Given the description of an element on the screen output the (x, y) to click on. 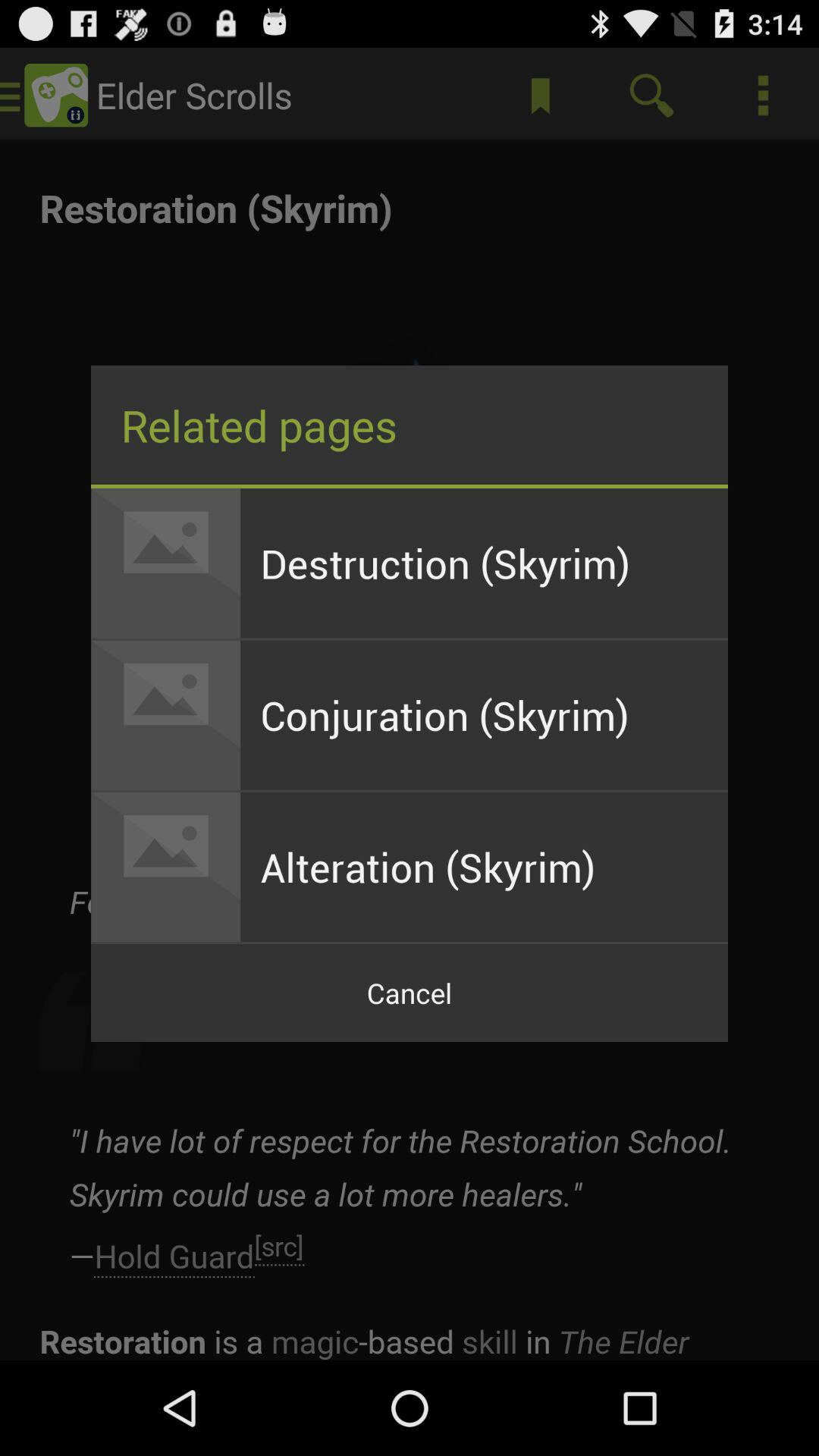
press the icon below destruction (skyrim) (484, 715)
